Given the description of an element on the screen output the (x, y) to click on. 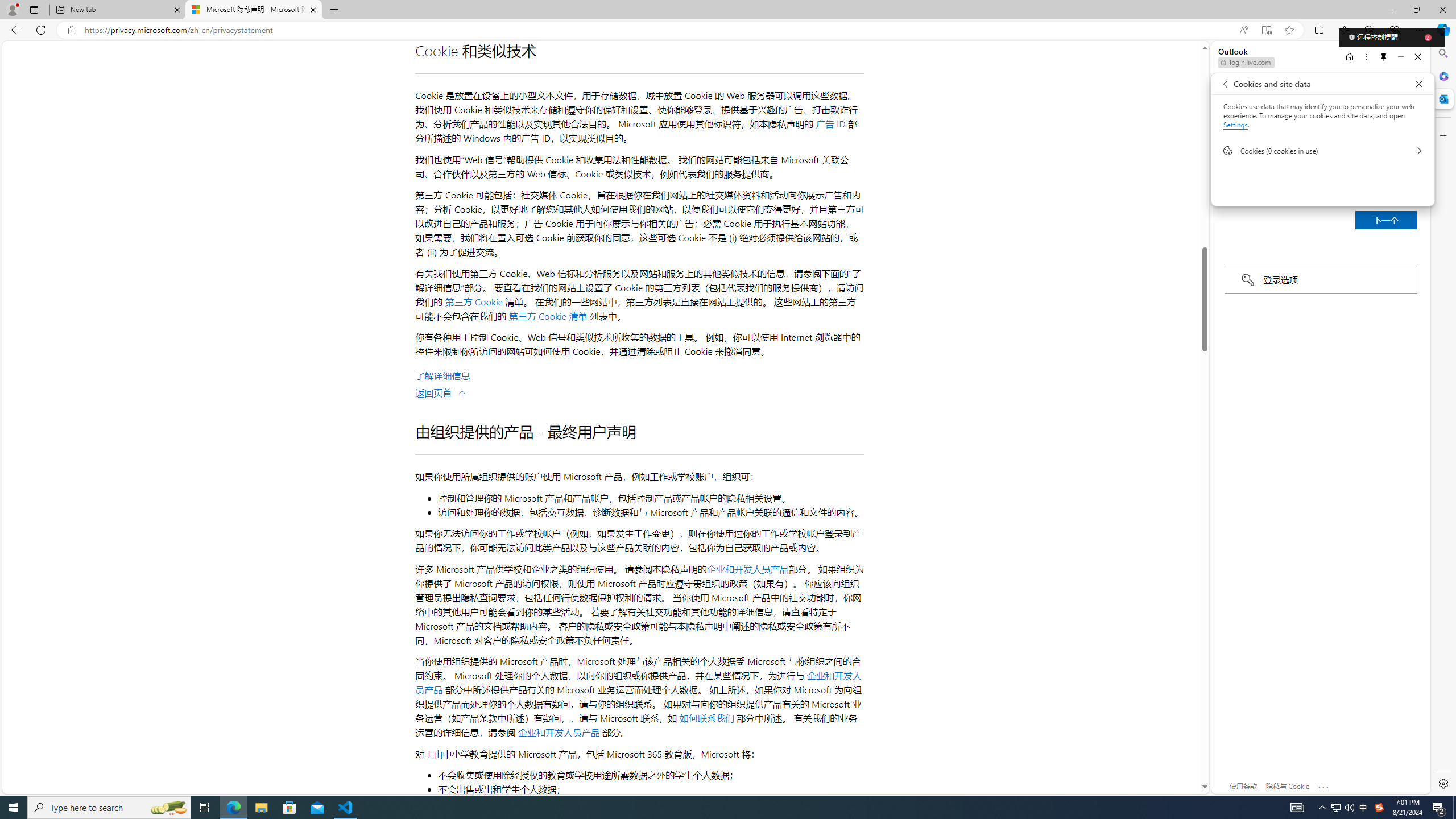
Cookies (0 cookies in use) (1322, 150)
Cookies and site data (1418, 83)
